Given the description of an element on the screen output the (x, y) to click on. 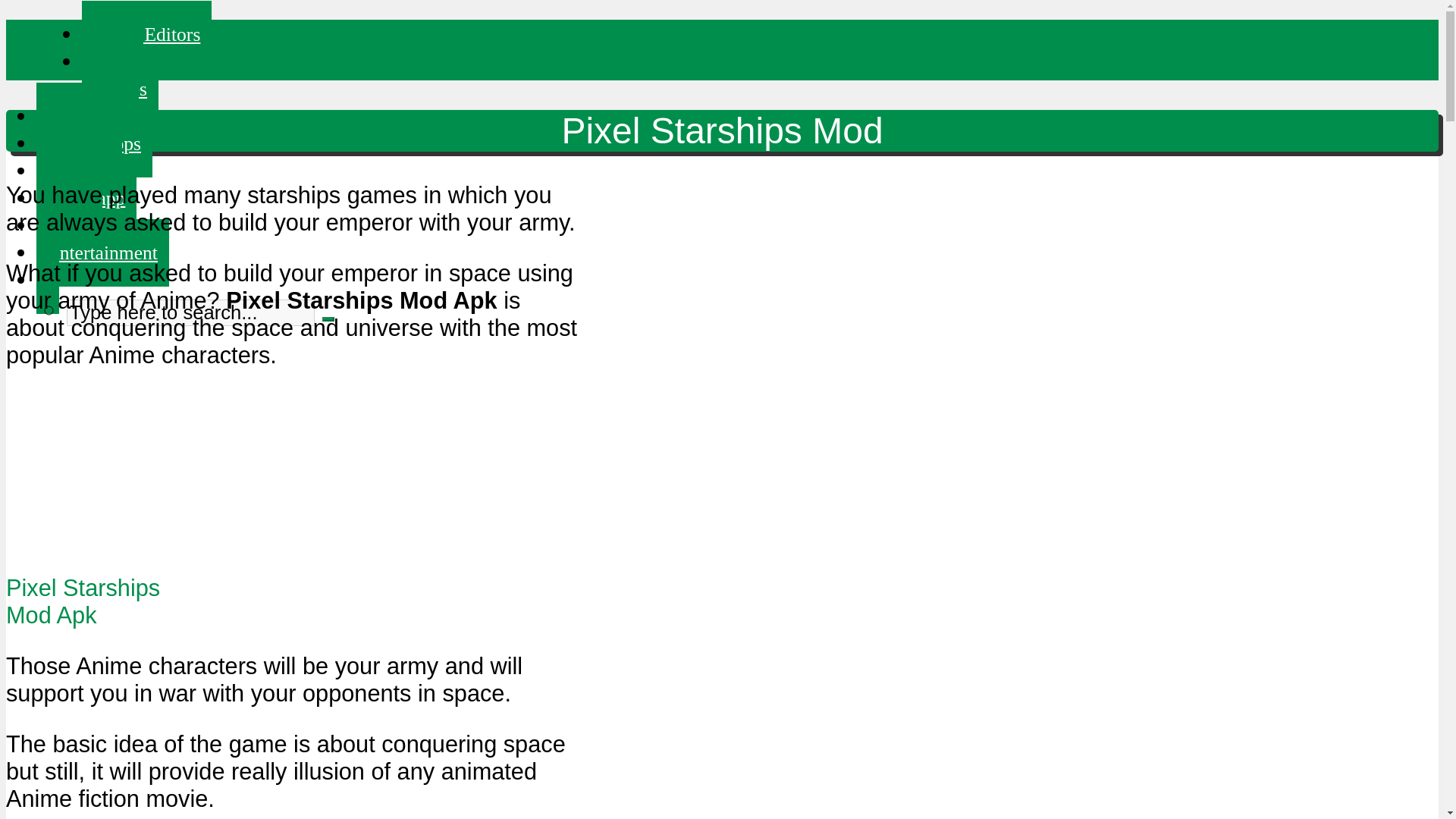
VPN (111, 61)
Entertainment (102, 252)
Type here to search... (190, 312)
Emulators (87, 115)
Games (119, 88)
Type here to search... (190, 312)
Tools (68, 225)
Video Editors (146, 33)
Music Apps (94, 143)
Whatsapp (86, 197)
TV App (79, 170)
